Given the description of an element on the screen output the (x, y) to click on. 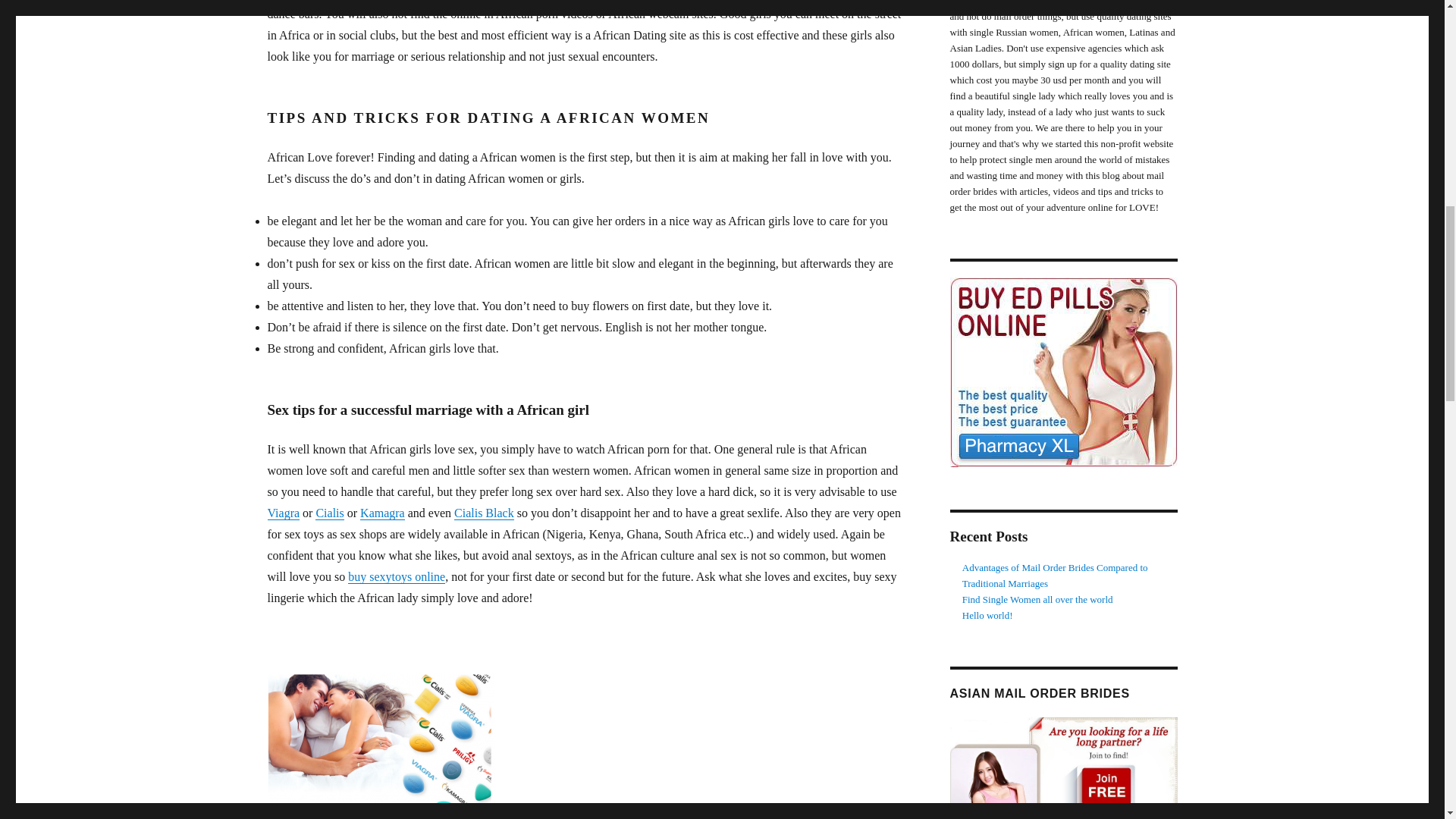
Cialis (329, 512)
Asian Mail Order Brides (1062, 768)
Find Single Women all over the world (1037, 599)
Kamagra (381, 512)
Men's Health (1062, 371)
Hello world! (987, 614)
Viagra (282, 512)
buy sexytoys online (396, 576)
Cialis Black (483, 512)
